Given the description of an element on the screen output the (x, y) to click on. 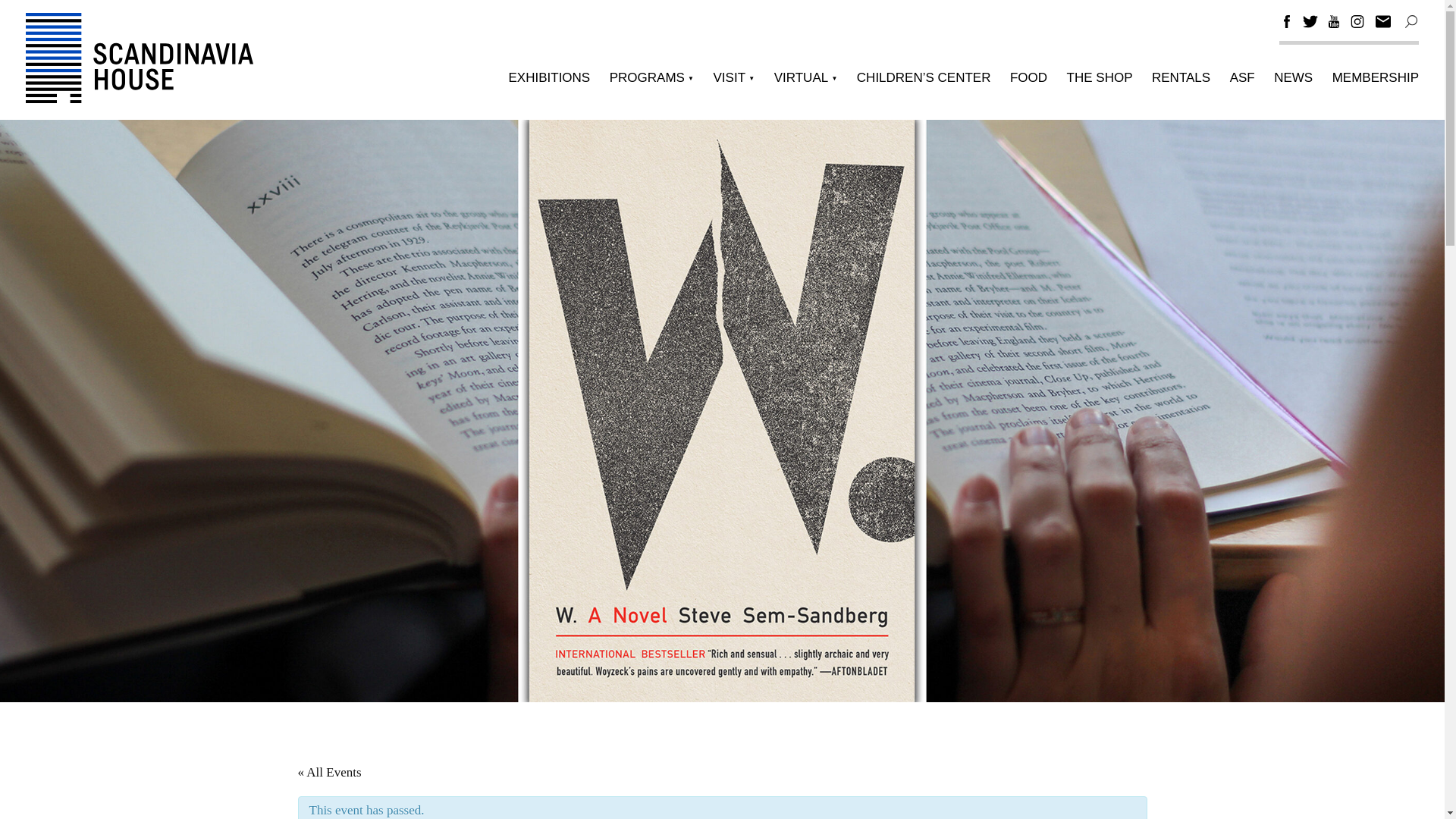
See Scandinavia House on Instagram (1357, 23)
Search (1410, 21)
See Scandinavia House on Youtube (1333, 23)
Newsletter (1382, 21)
Logo - Scandinavia House (139, 58)
Facebook (1286, 21)
Twitter (1310, 21)
See Scandinavia House on Twitter (1310, 23)
YouTube (1333, 23)
Facebook (1286, 23)
Twitter (1310, 23)
Logo - Scandinavia House (139, 98)
See Scandinavia House on Facebook (1286, 23)
Instagram (1357, 21)
YouTube (1333, 21)
